Given the description of an element on the screen output the (x, y) to click on. 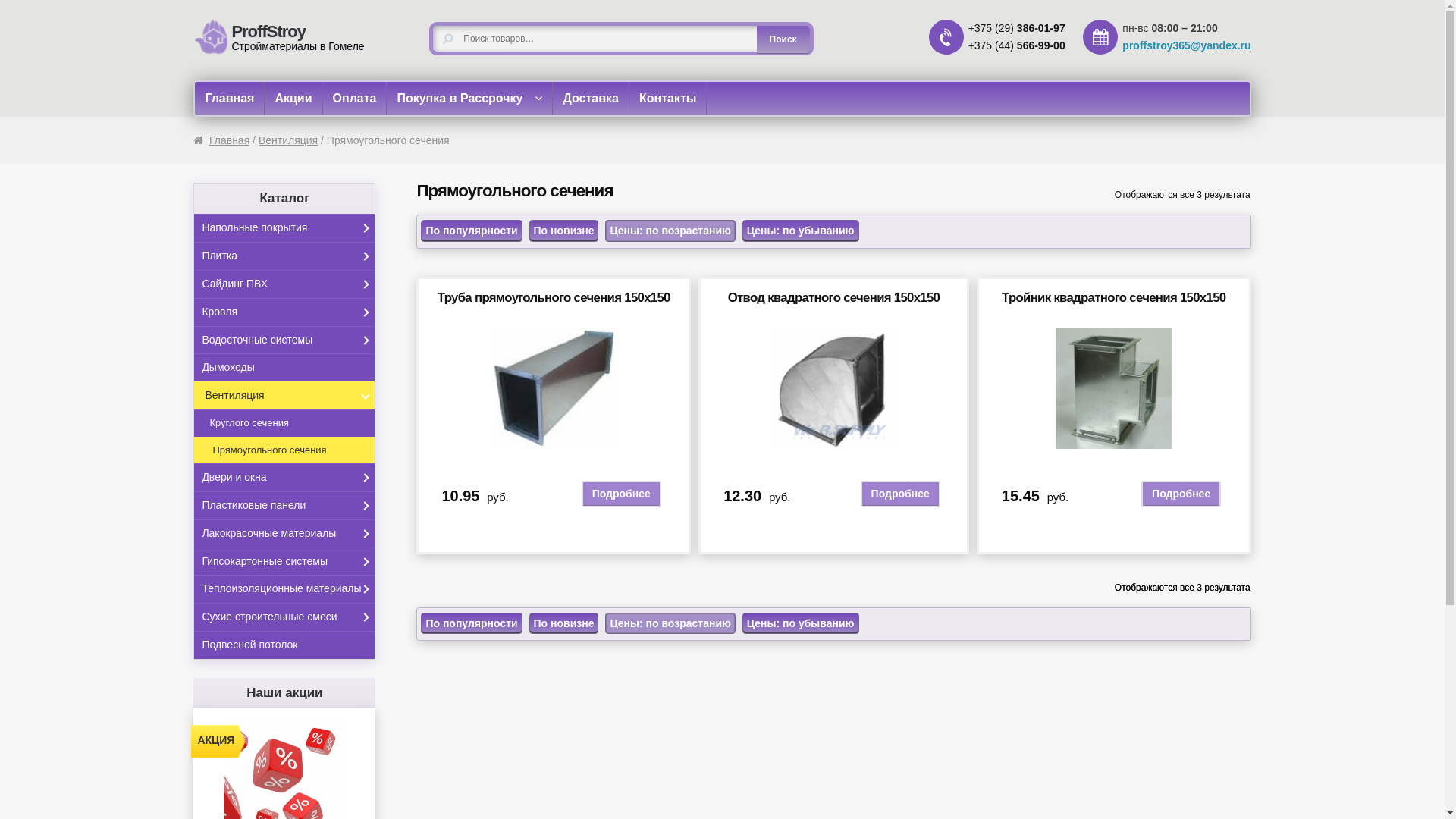
00000283_1_large Element type: hover (553, 388)
troinik-550x550 Element type: hover (1113, 388)
+375 (29) 386-01-97 Element type: text (1016, 27)
ProffStroy Element type: text (249, 31)
proffstroy365@yandex.ru Element type: text (1186, 45)
tovar-625500 Element type: hover (833, 388)
+375 (44) 566-99-00 Element type: text (1016, 45)
